Given the description of an element on the screen output the (x, y) to click on. 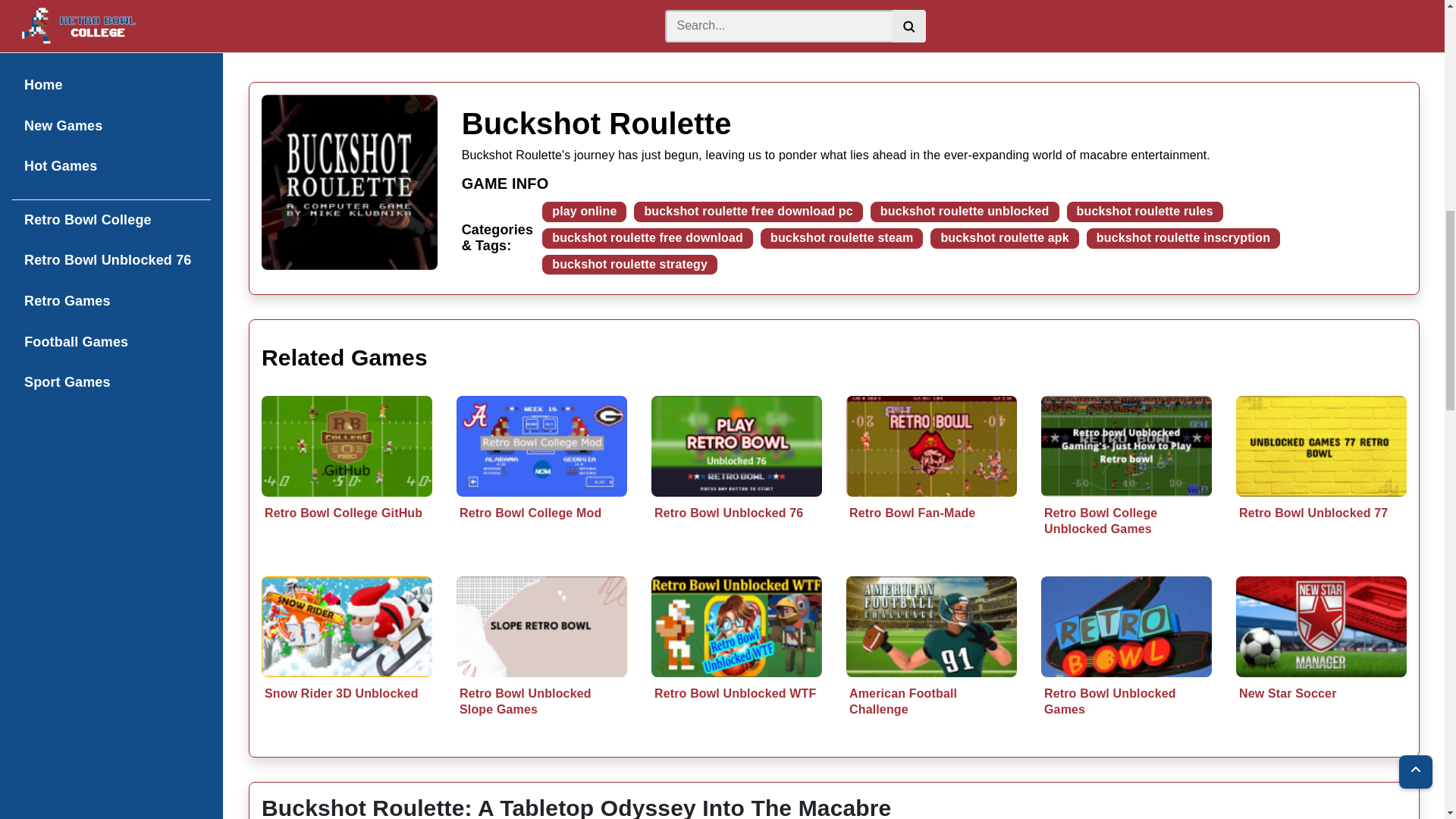
buckshot roulette apk (1004, 238)
Retro Bowl College GitHub (347, 481)
Retro Bowl Unblocked Slope Games (542, 670)
buckshot roulette strategy (629, 264)
play online (583, 211)
Retro Bowl Fan-Made (930, 481)
Retro Bowl Unblocked 76 (736, 481)
buckshot roulette steam (841, 238)
buckshot roulette free download (646, 238)
buckshot roulette rules (1145, 211)
buckshot roulette unblocked (964, 211)
Retro Bowl College Mod (542, 481)
Retro Bowl Unblocked WTF (736, 662)
Retro Bowl College Unblocked Games (1126, 489)
Retro Bowl Unblocked 77 (1321, 481)
